Given the description of an element on the screen output the (x, y) to click on. 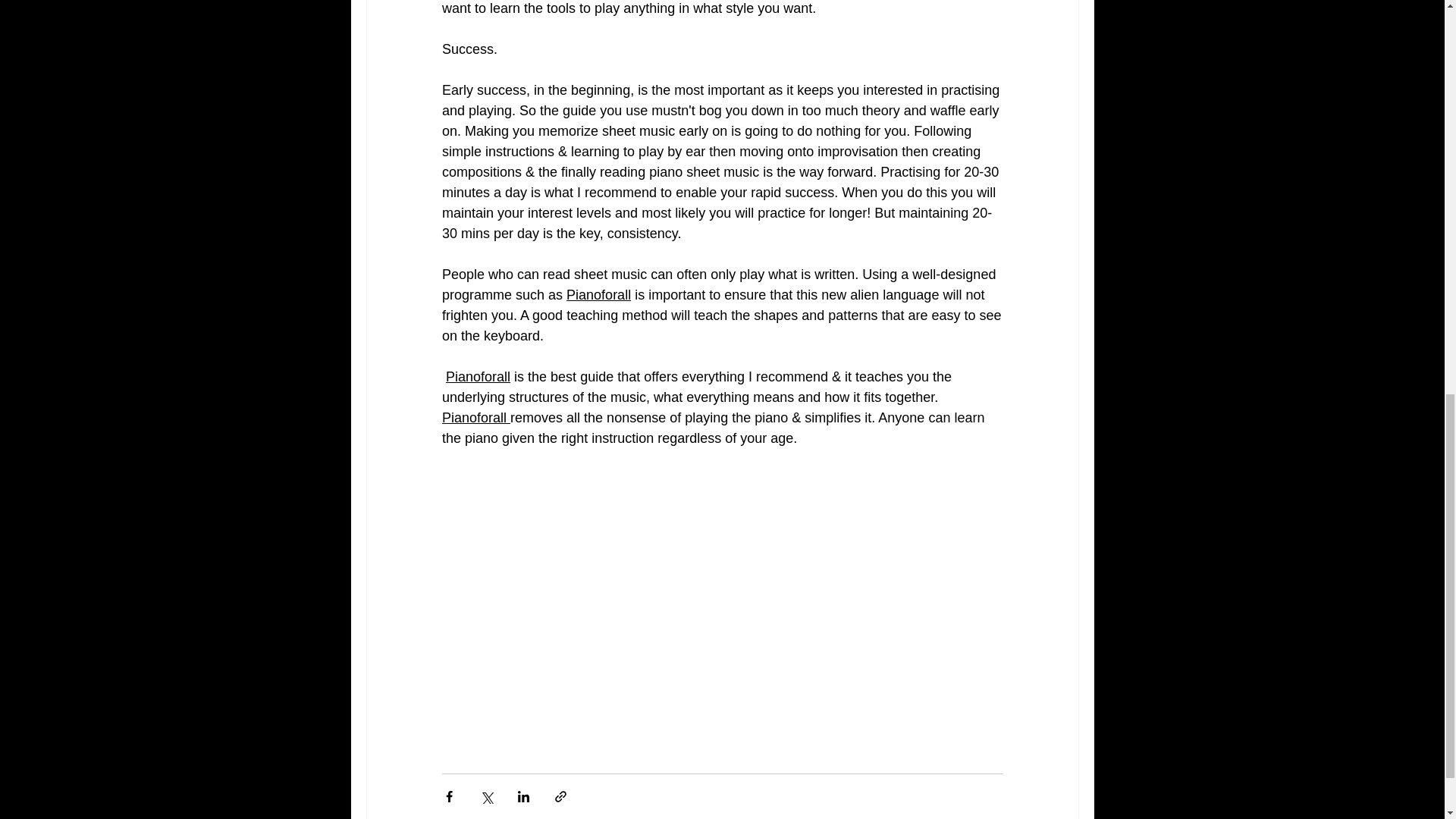
Pianoforall (478, 376)
Pianoforall (598, 294)
Pianoforall  (475, 417)
